Given the description of an element on the screen output the (x, y) to click on. 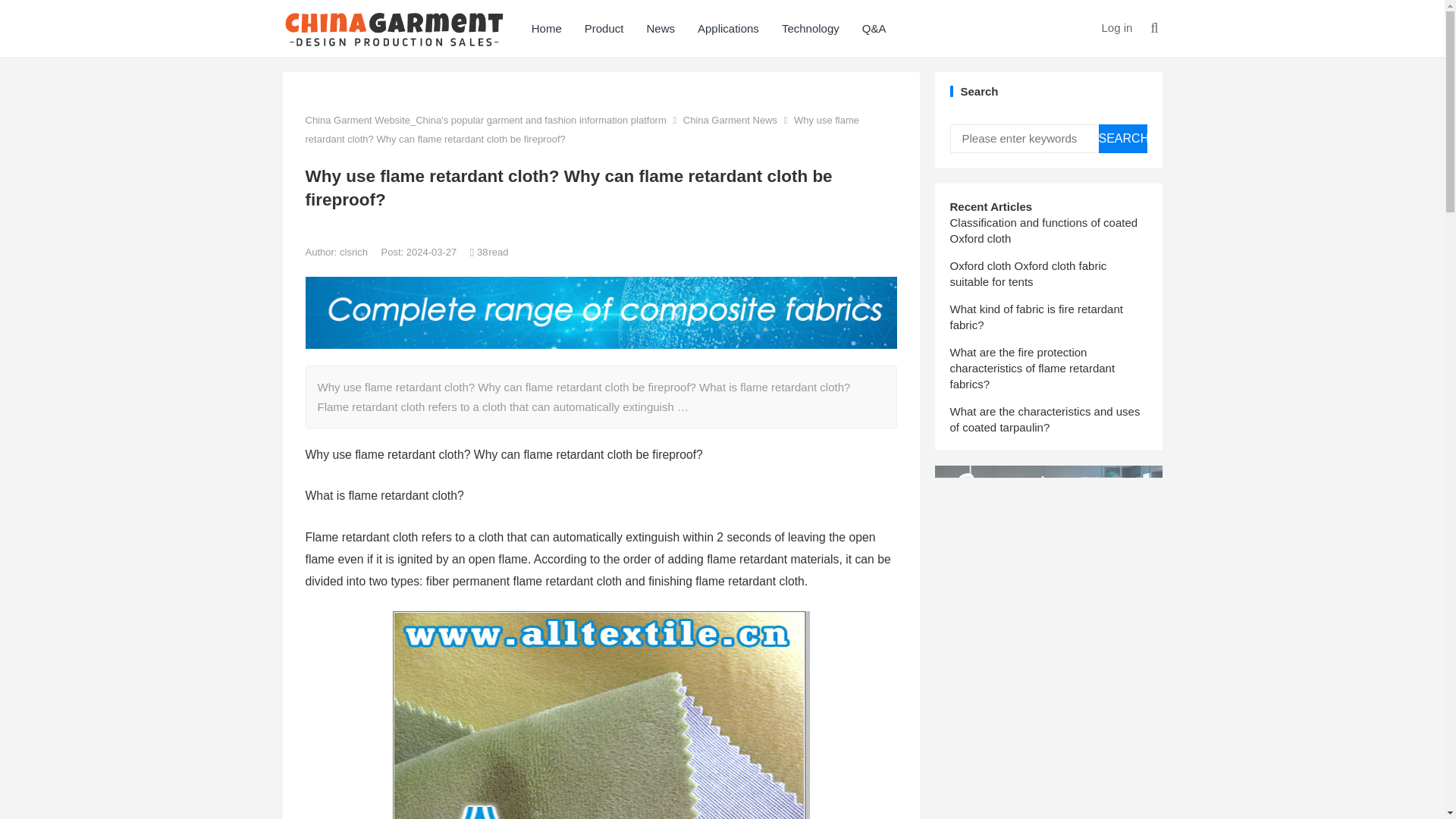
Log in (1116, 27)
SEARCH (1122, 138)
Log in (1116, 27)
Classification and functions of coated Oxford cloth (1043, 230)
Technology (810, 28)
News (659, 28)
5adf397f03b98.jpg (601, 714)
China Garment News (729, 119)
Product (603, 28)
clsrich (354, 251)
